Given the description of an element on the screen output the (x, y) to click on. 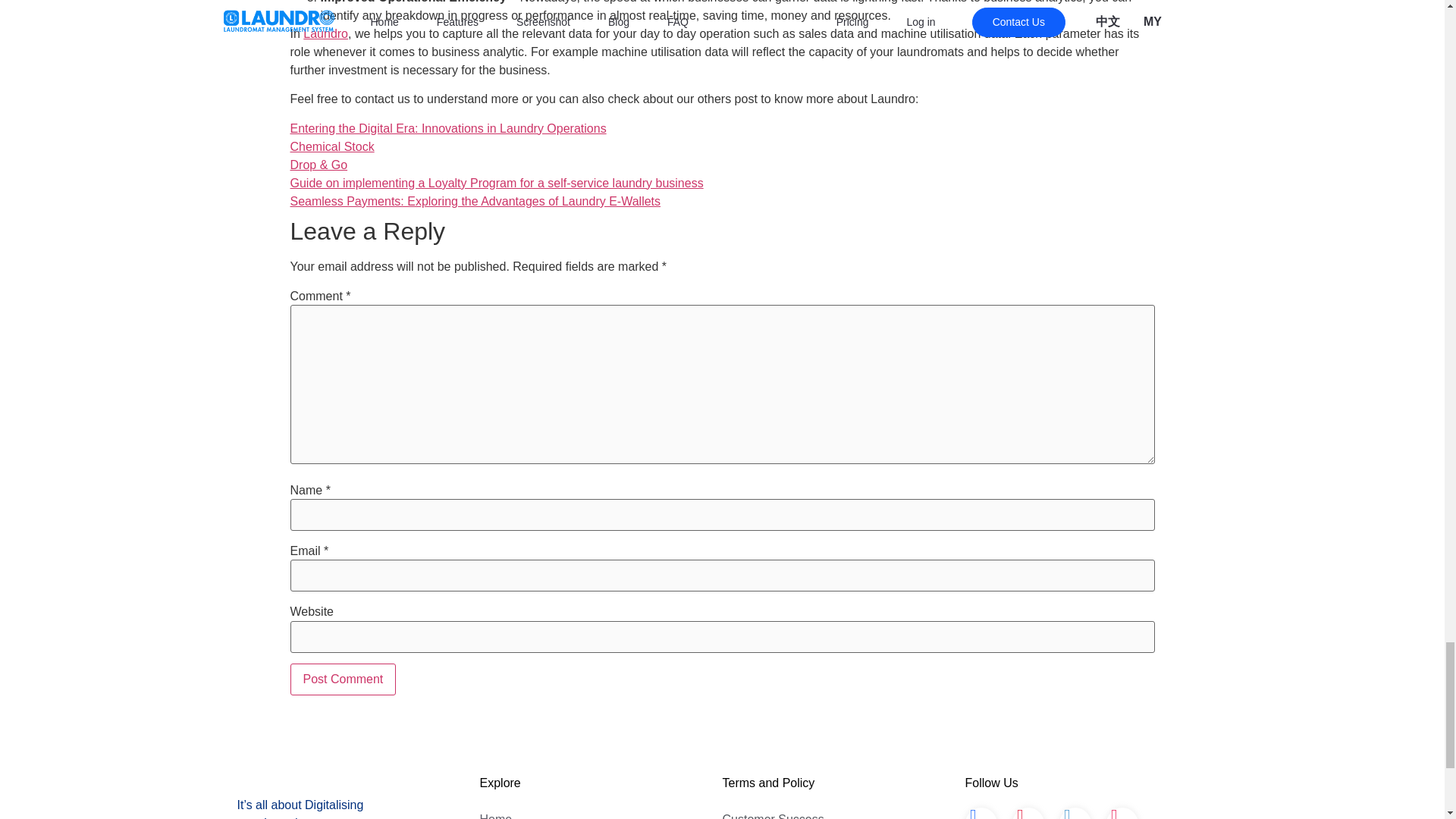
Post Comment (342, 679)
